Given the description of an element on the screen output the (x, y) to click on. 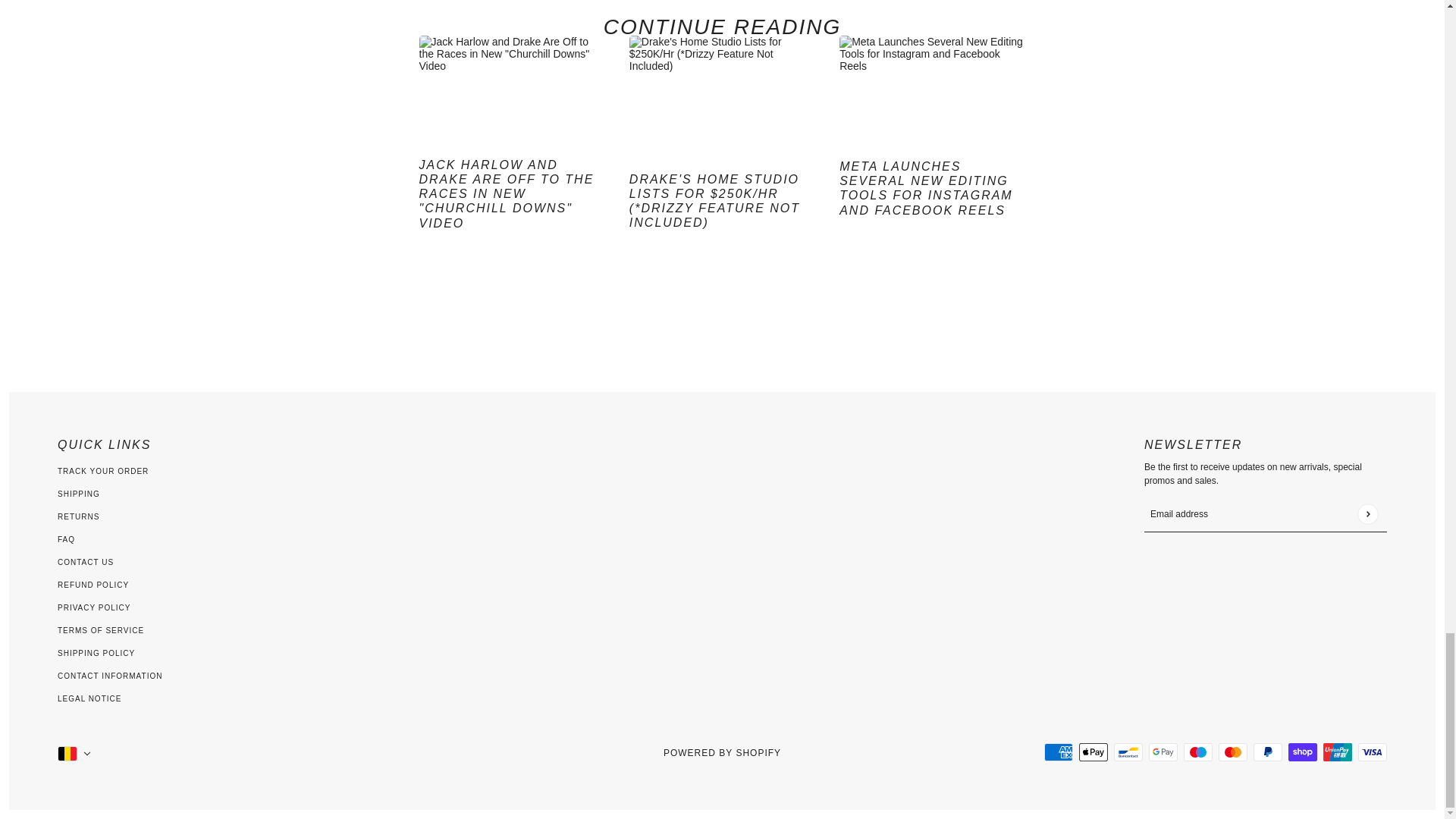
Shipping (79, 493)
Shipping policy (96, 653)
Track your order (103, 470)
Contact information (109, 675)
FAQ (66, 539)
Privacy policy (94, 607)
Contact us (85, 561)
Returns (78, 516)
Legal notice (89, 698)
Terms of service (101, 630)
Refund policy (93, 584)
